Given the description of an element on the screen output the (x, y) to click on. 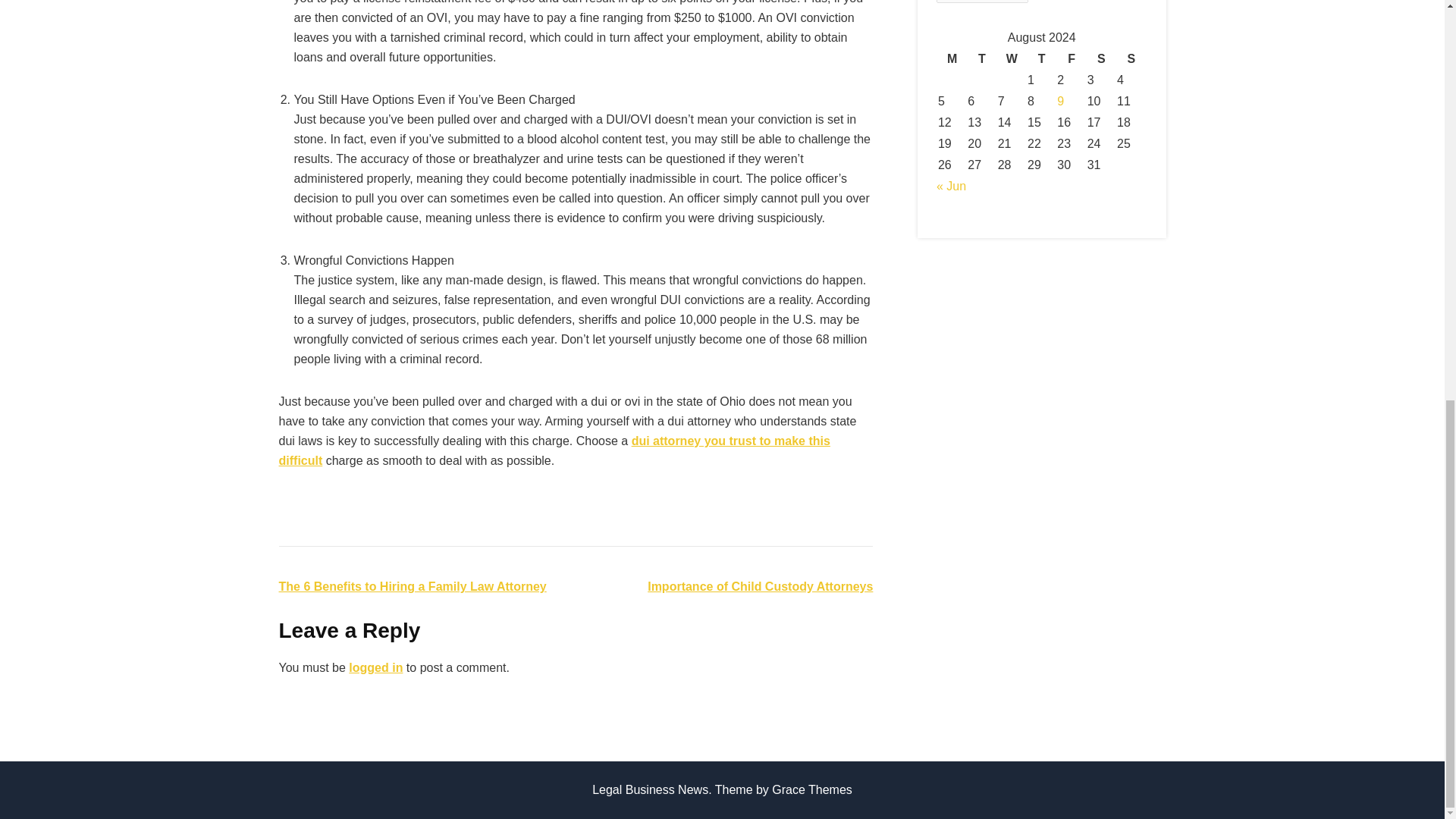
Wednesday (1011, 58)
Importance of Child Custody Attorneys (759, 585)
Friday (1070, 58)
The 6 Benefits to Hiring a Family Law Attorney (413, 585)
Thursday (1041, 58)
Dayton trial lawyers, Find a good lawyer (554, 450)
Sunday (1130, 58)
Saturday (1101, 58)
dui attorney you trust to make this difficult (554, 450)
Tuesday (981, 58)
